Given the description of an element on the screen output the (x, y) to click on. 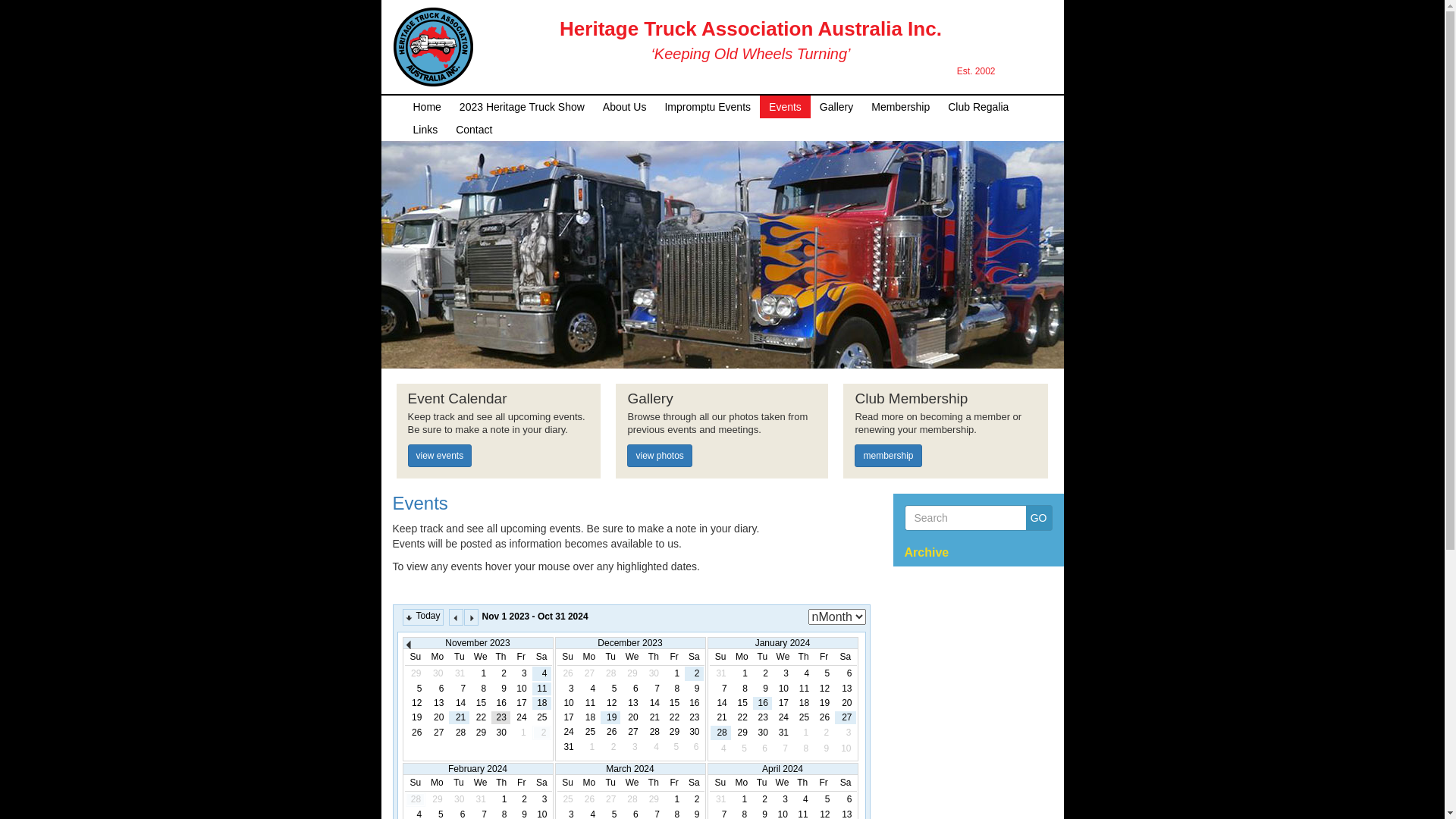
21 Element type: text (653, 717)
17 Element type: text (521, 703)
Events Element type: text (420, 502)
14 Element type: text (720, 703)
20 Element type: text (844, 703)
17 Element type: text (567, 717)
3 Element type: text (781, 799)
23 Element type: text (762, 717)
7 Element type: text (720, 688)
29 Element type: text (673, 731)
3 Element type: text (782, 673)
Next Element type: hover (471, 616)
Events Element type: text (784, 106)
membership Element type: text (887, 455)
10 Element type: text (567, 703)
11 Element type: text (541, 688)
26 Element type: text (415, 732)
19 Element type: text (610, 717)
22 Element type: text (480, 717)
28 Element type: text (458, 732)
Prev Element type: text (411, 645)
9 Element type: text (500, 688)
18 Element type: text (803, 703)
27 Element type: text (844, 717)
14 Element type: text (458, 703)
view events Element type: text (439, 455)
Prev Element type: hover (455, 616)
12 Element type: text (823, 688)
2 Element type: text (521, 799)
11 Element type: text (589, 703)
7 Element type: text (653, 688)
Search Element type: hover (964, 517)
13 Element type: text (631, 703)
1 Element type: text (480, 673)
5 Element type: text (610, 688)
15 Element type: text (673, 703)
14 Element type: text (653, 703)
8 Element type: text (480, 688)
GO Element type: text (1039, 517)
Membership Element type: text (900, 106)
15 Element type: text (741, 703)
Gallery Element type: text (836, 106)
27 Element type: text (436, 732)
4 Element type: text (589, 688)
11 Element type: text (803, 688)
30 Element type: text (693, 731)
2 Element type: text (693, 799)
30 Element type: text (500, 732)
1 Element type: text (740, 799)
3 Element type: text (567, 688)
28 Element type: text (653, 731)
7 Element type: text (458, 688)
Links Element type: text (424, 129)
2 Element type: text (762, 673)
23 Element type: text (693, 717)
18 Element type: text (541, 703)
2 Element type: text (761, 799)
12 Element type: text (610, 703)
1 Element type: text (501, 799)
21 Element type: text (458, 717)
24 Element type: text (782, 717)
24 Element type: text (521, 717)
17 Element type: text (782, 703)
2023 Heritage Truck Show Element type: text (521, 106)
2 Element type: text (500, 673)
Home Element type: text (426, 106)
16 Element type: text (500, 703)
29 Element type: text (480, 732)
2 Element type: text (693, 673)
19 Element type: text (415, 717)
Impromptu Events Element type: text (707, 106)
9 Element type: text (762, 688)
16 Element type: text (693, 703)
26 Element type: text (823, 717)
6 Element type: text (436, 688)
5 Element type: text (415, 688)
25 Element type: text (589, 731)
5 Element type: text (823, 799)
31 Element type: text (567, 747)
6 Element type: text (845, 799)
28 Element type: text (720, 732)
23 Element type: text (500, 717)
22 Element type: text (741, 717)
About Us Element type: text (624, 106)
8 Element type: text (741, 688)
4 Element type: text (803, 673)
3 Element type: text (541, 799)
21 Element type: text (720, 717)
Contact Element type: text (473, 129)
24 Element type: text (567, 731)
4 Element type: text (802, 799)
10 Element type: text (521, 688)
6 Element type: text (631, 688)
16 Element type: text (762, 703)
25 Element type: text (803, 717)
9 Element type: text (693, 688)
26 Element type: text (610, 731)
29 Element type: text (741, 732)
3 Element type: text (521, 673)
1 Element type: text (673, 673)
22 Element type: text (673, 717)
view photos Element type: text (659, 455)
6 Element type: text (844, 673)
18 Element type: text (589, 717)
19 Element type: text (823, 703)
25 Element type: text (541, 717)
Club Regalia Element type: text (977, 106)
15 Element type: text (480, 703)
30 Element type: text (762, 732)
20 Element type: text (631, 717)
4 Element type: text (541, 673)
1 Element type: text (741, 673)
1 Element type: text (673, 799)
27 Element type: text (631, 731)
8 Element type: text (673, 688)
12 Element type: text (415, 703)
20 Element type: text (436, 717)
10 Element type: text (782, 688)
5 Element type: text (823, 673)
31 Element type: text (782, 732)
13 Element type: text (844, 688)
13 Element type: text (436, 703)
